Given the description of an element on the screen output the (x, y) to click on. 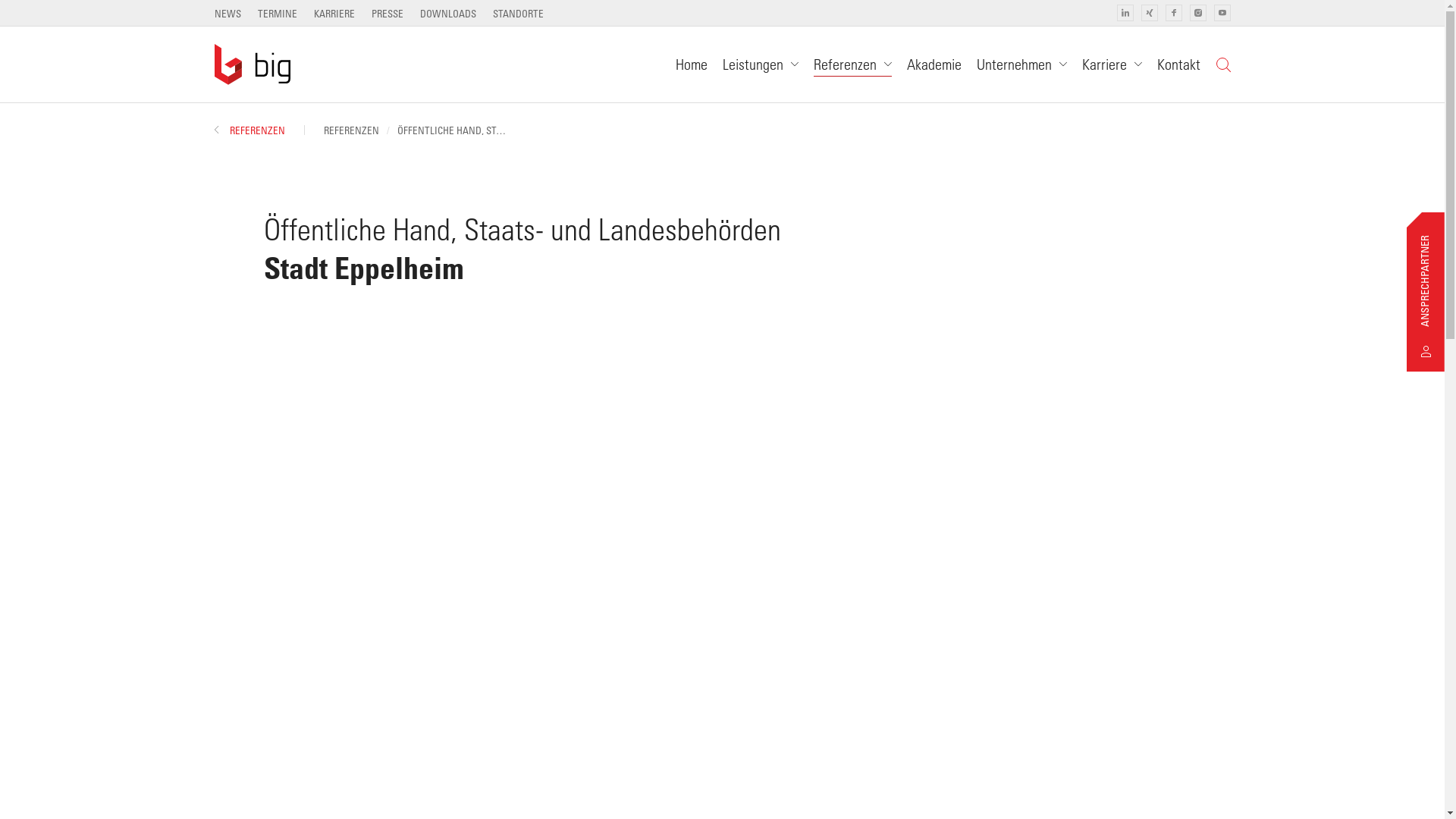
Leistungen Element type: text (759, 64)
Facebook Element type: text (1172, 12)
KARRIERE Element type: text (333, 12)
Karriere Element type: text (1111, 64)
YouTube Element type: text (1221, 12)
NEWS Element type: text (226, 12)
REFERENZEN Element type: text (248, 129)
STANDORTE Element type: text (517, 12)
Suche Element type: text (1222, 64)
PRESSE Element type: text (387, 12)
Referenzen Element type: text (851, 64)
Unternehmen Element type: text (1021, 64)
LinkedIn Element type: text (1124, 12)
Home Element type: text (690, 64)
DOWNLOADS Element type: text (448, 12)
Akademie Element type: text (933, 64)
REFERENZEN Element type: text (350, 129)
Instagram Element type: text (1197, 12)
Kontakt Element type: text (1178, 64)
XING Element type: text (1148, 12)
TERMINE Element type: text (277, 12)
